Given the description of an element on the screen output the (x, y) to click on. 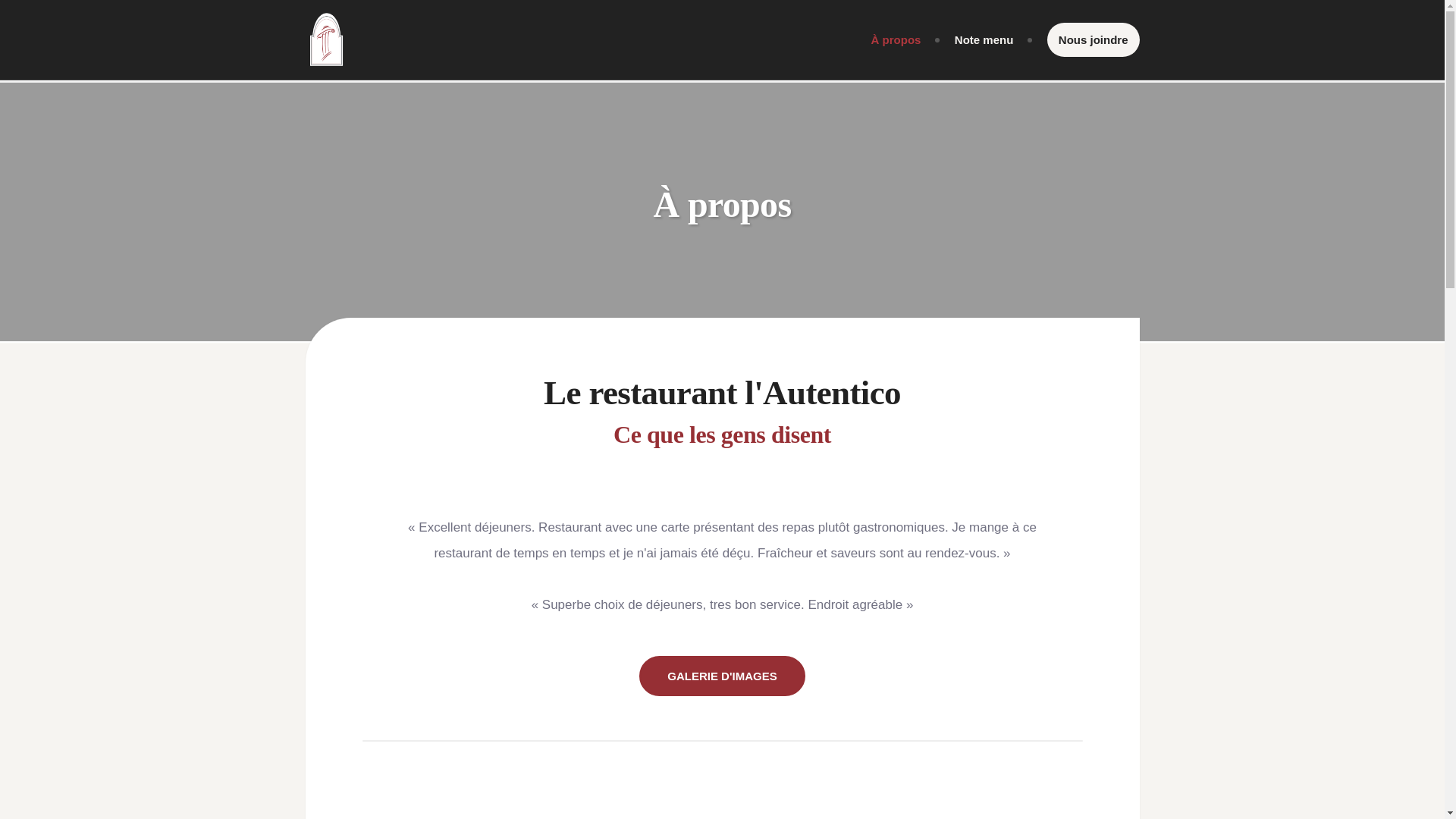
GALERIE D'IMAGES Element type: text (721, 675)
Envoyer Element type: text (781, 795)
Note menu Element type: text (984, 39)
Nous joindre Element type: text (1093, 39)
